Given the description of an element on the screen output the (x, y) to click on. 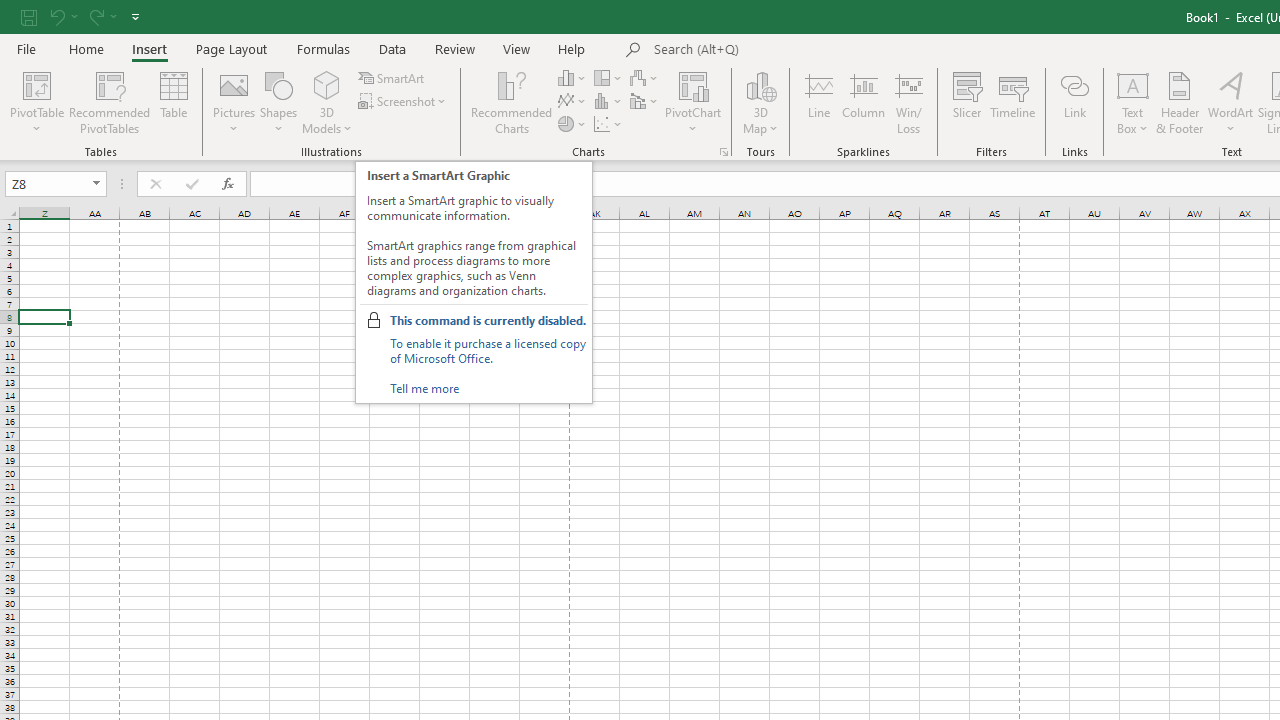
Text Box (1133, 102)
PivotTable (36, 84)
More Options (1133, 121)
Recommended PivotTables (109, 102)
System (10, 11)
Insert Hierarchy Chart (609, 78)
File Tab (26, 48)
Draw Horizontal Text Box (1133, 84)
Customize Quick Access Toolbar (135, 15)
View (517, 48)
WordArt (1230, 102)
PivotTable (36, 102)
Page Layout (230, 48)
